Given the description of an element on the screen output the (x, y) to click on. 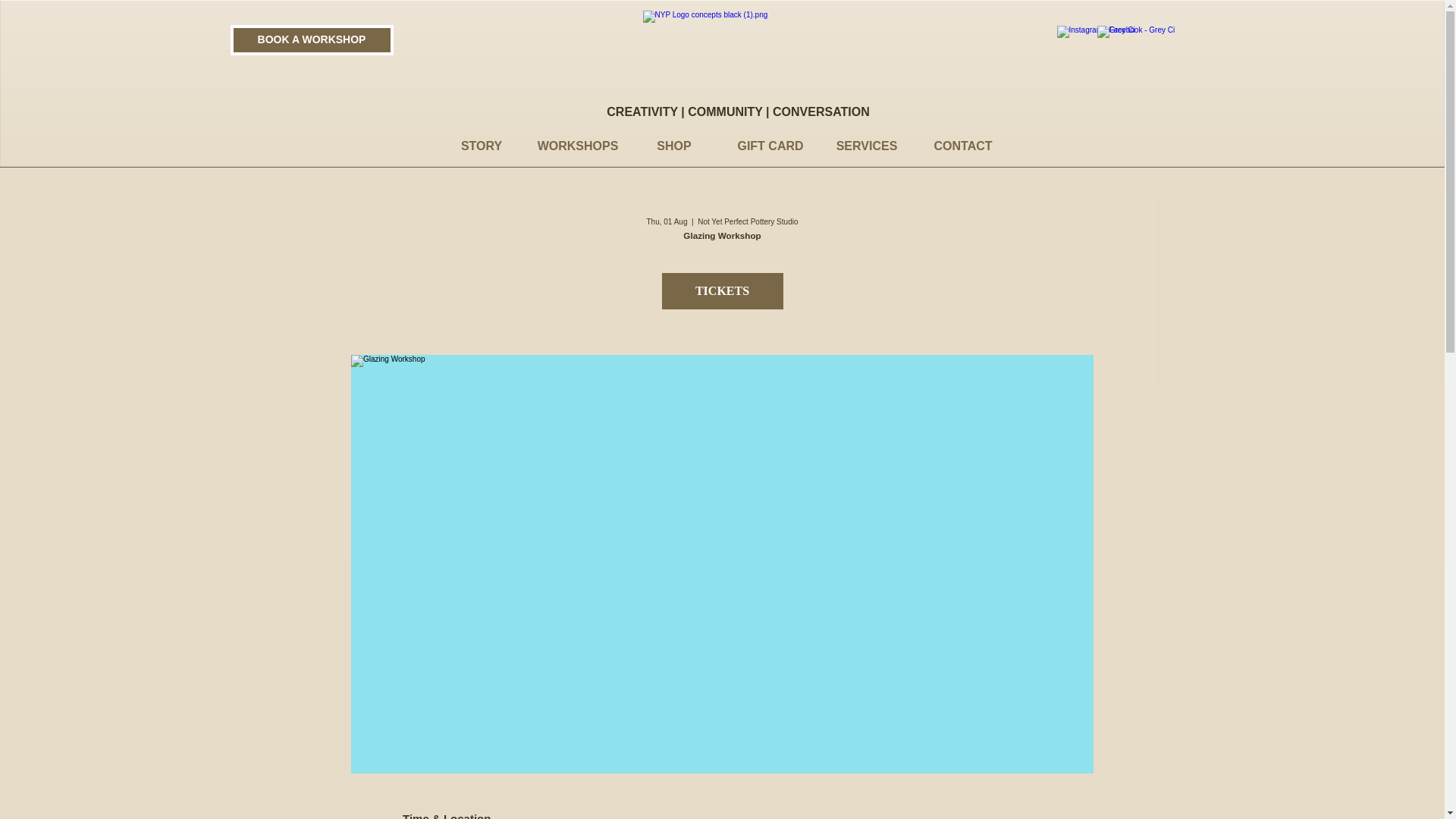
WORKSHOPS (577, 145)
GIFT CARD (770, 145)
SERVICES (866, 145)
TICKETS (722, 290)
BOOK A WORKSHOP (311, 40)
STORY (481, 145)
CONTACT (962, 145)
SHOP (674, 145)
